Given the description of an element on the screen output the (x, y) to click on. 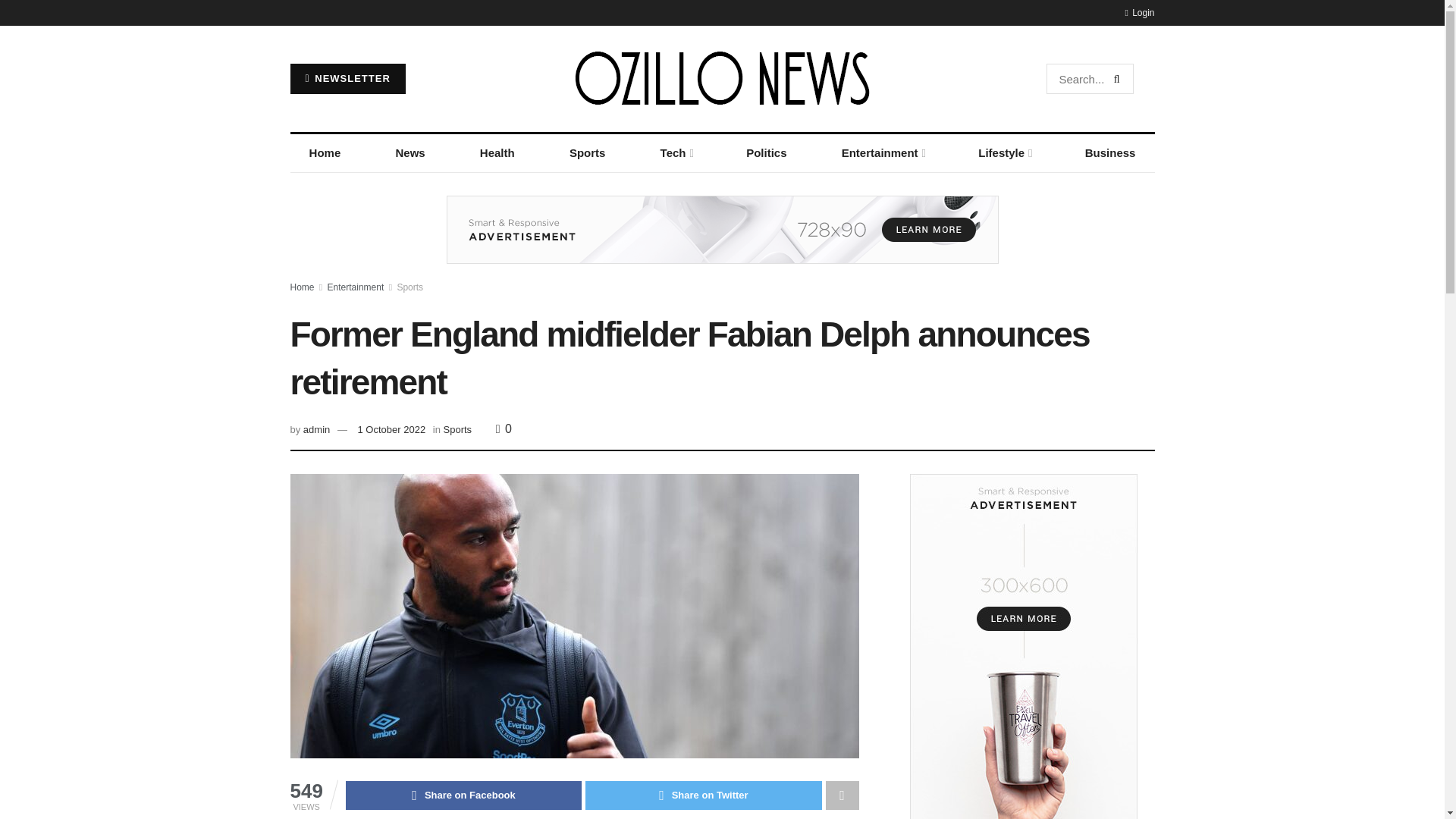
Login (1139, 12)
Politics (766, 152)
Home (324, 152)
News (409, 152)
Tech (675, 152)
Sports (587, 152)
NEWSLETTER (346, 78)
Entertainment (882, 152)
Health (497, 152)
